Given the description of an element on the screen output the (x, y) to click on. 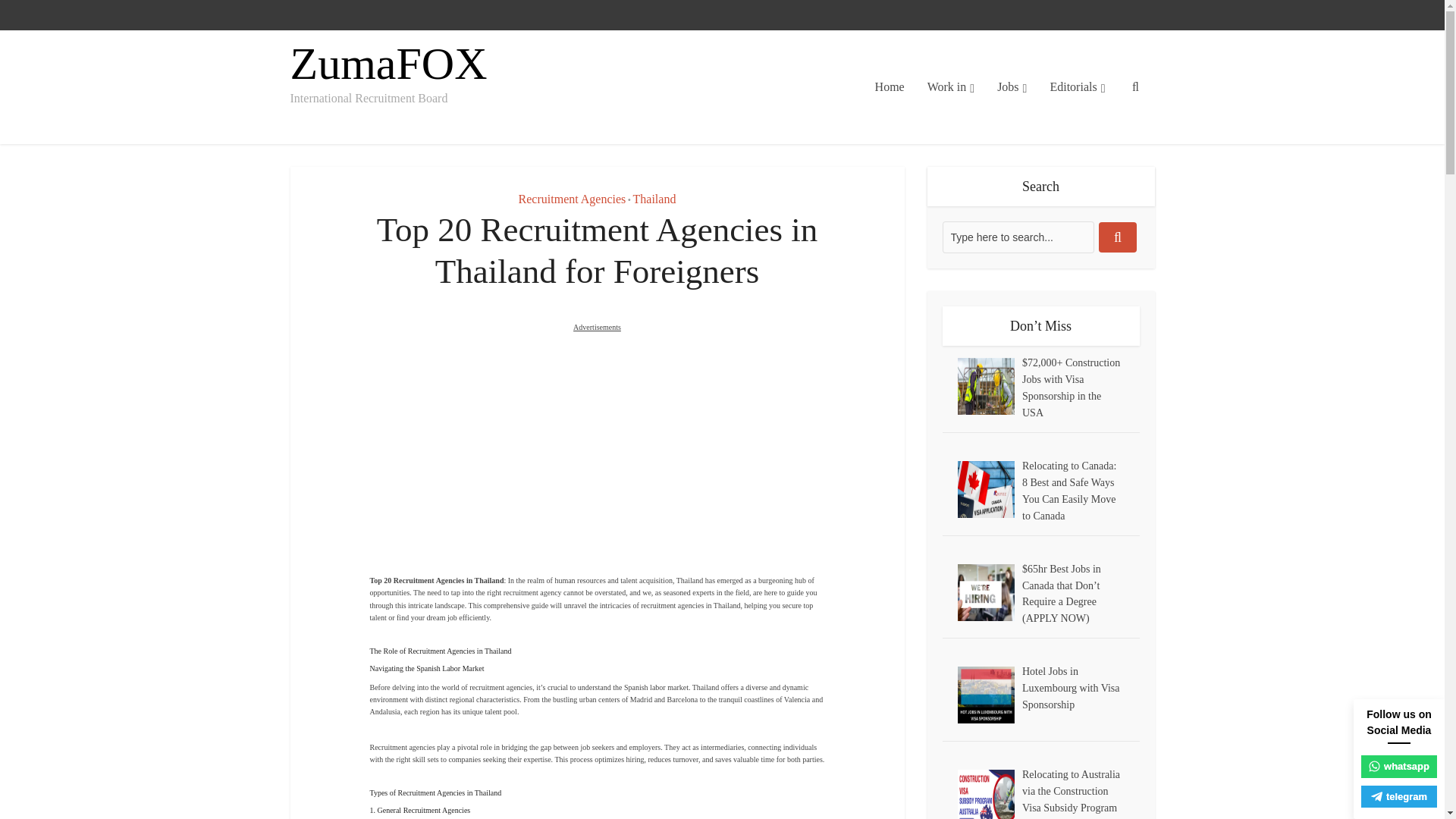
ZumaFOX (387, 63)
Type here to search... (1017, 237)
Type here to search... (1017, 237)
Advertisement (597, 462)
